Given the description of an element on the screen output the (x, y) to click on. 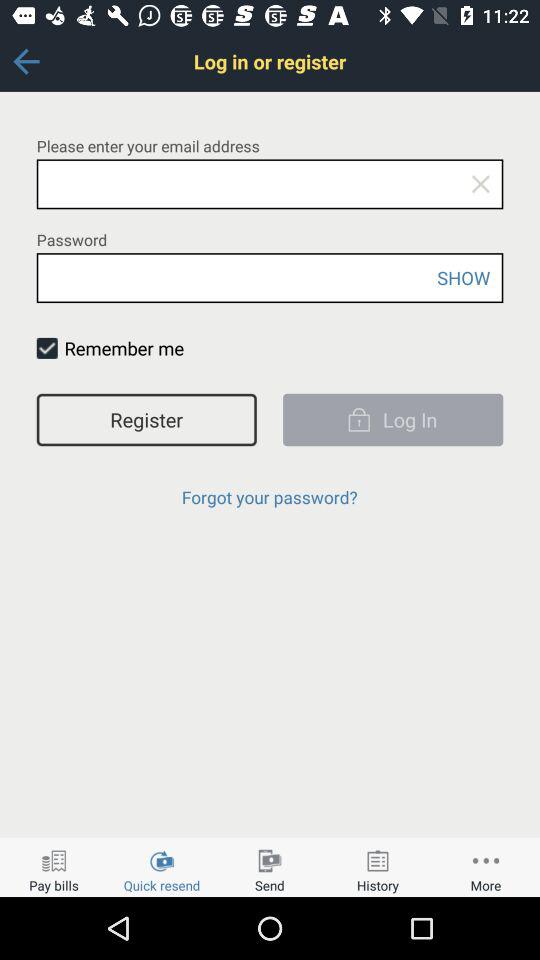
tap icon next to the log in or icon (26, 61)
